Given the description of an element on the screen output the (x, y) to click on. 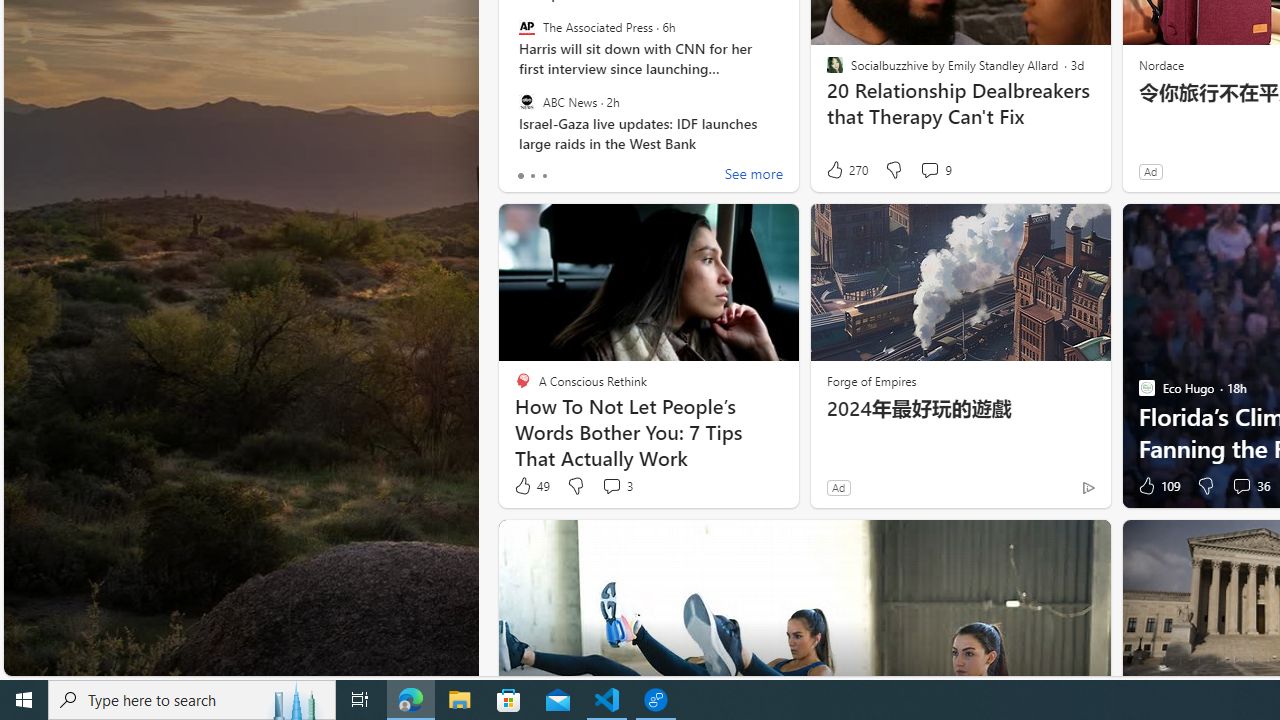
The Associated Press (526, 27)
tab-0 (520, 175)
View comments 36 Comment (1241, 485)
Dislike (1204, 485)
View comments 9 Comment (929, 169)
tab-1 (532, 175)
Ad Choice (1087, 487)
